Given the description of an element on the screen output the (x, y) to click on. 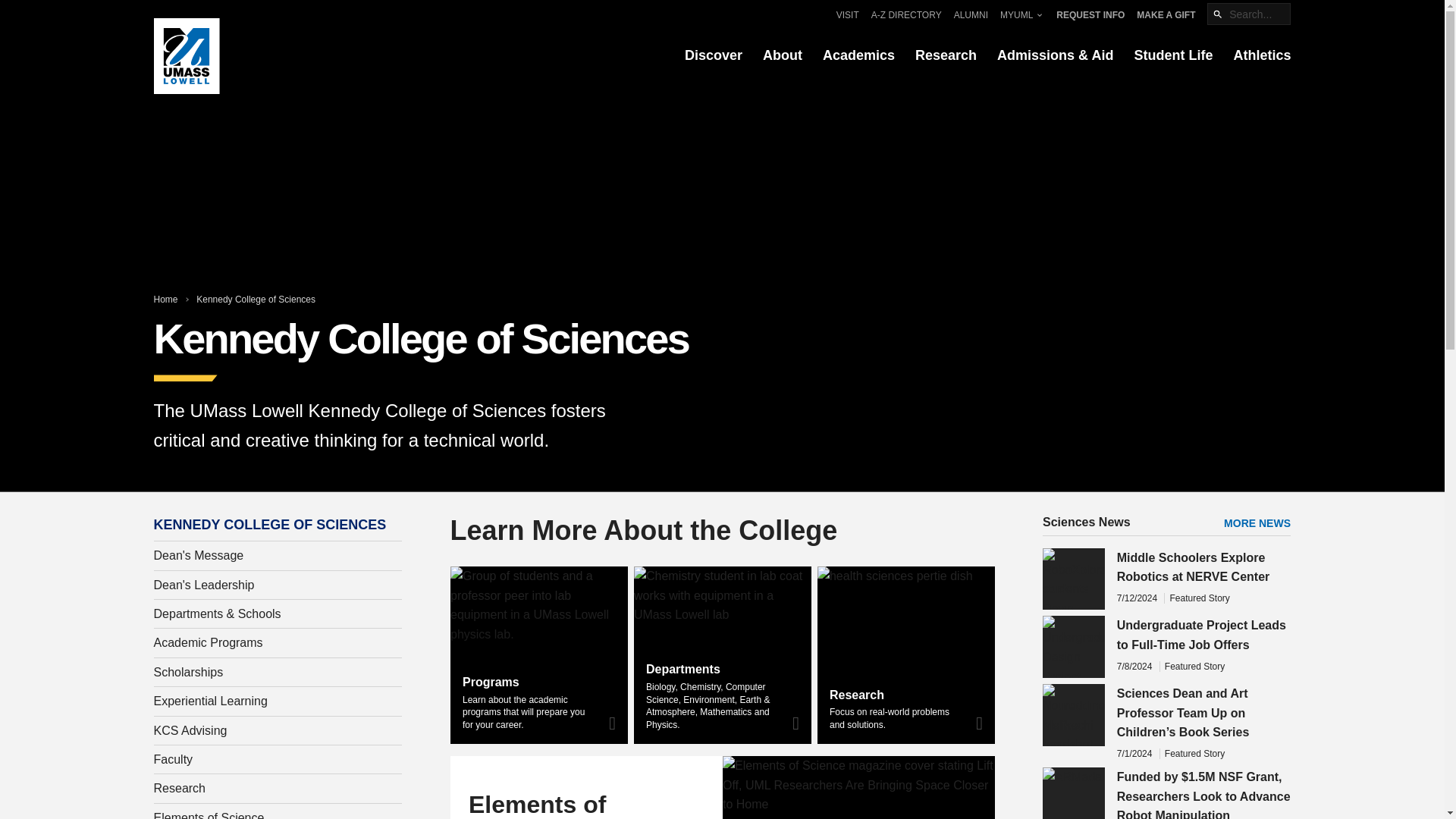
Visit (847, 14)
Make A Gift (1166, 14)
Programs (491, 681)
Student Life (1173, 55)
Experiential Learning (277, 701)
Home (165, 299)
Research (855, 694)
A-Z Directory (906, 14)
Faculty (277, 759)
Programs (538, 654)
Departments (683, 668)
Academics (858, 55)
Departments (683, 668)
Middle Schoolers Explore Robotics at NERVE Center (1192, 567)
Programs (491, 681)
